Given the description of an element on the screen output the (x, y) to click on. 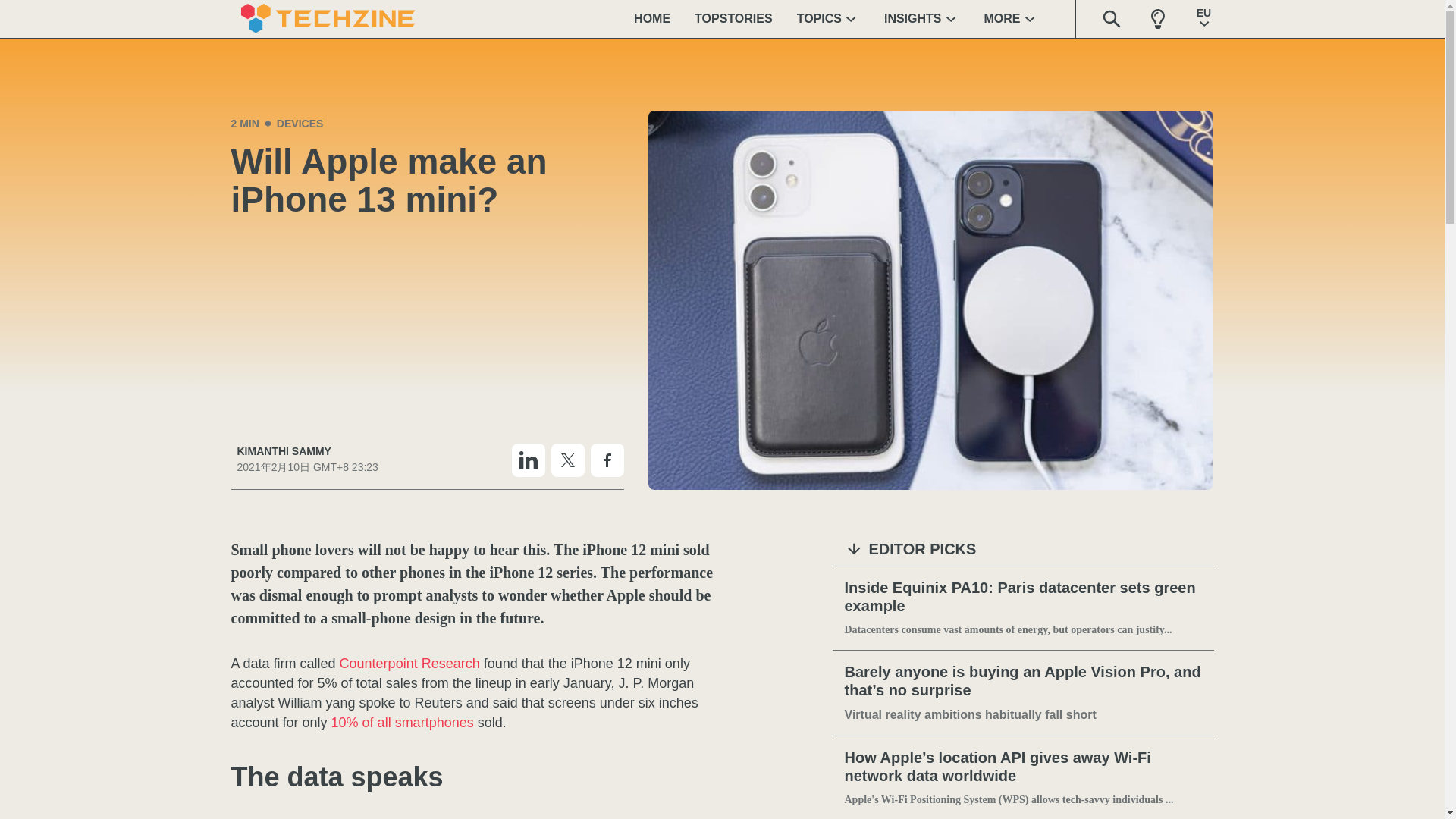
TOPSTORIES (733, 18)
INSIGHTS (922, 18)
MORE (1011, 18)
Inside Equinix PA10: Paris datacenter sets green example (1023, 597)
HOME (651, 18)
KIMANTHI SAMMY (306, 451)
DEVICES (299, 123)
TOPICS (828, 18)
